Given the description of an element on the screen output the (x, y) to click on. 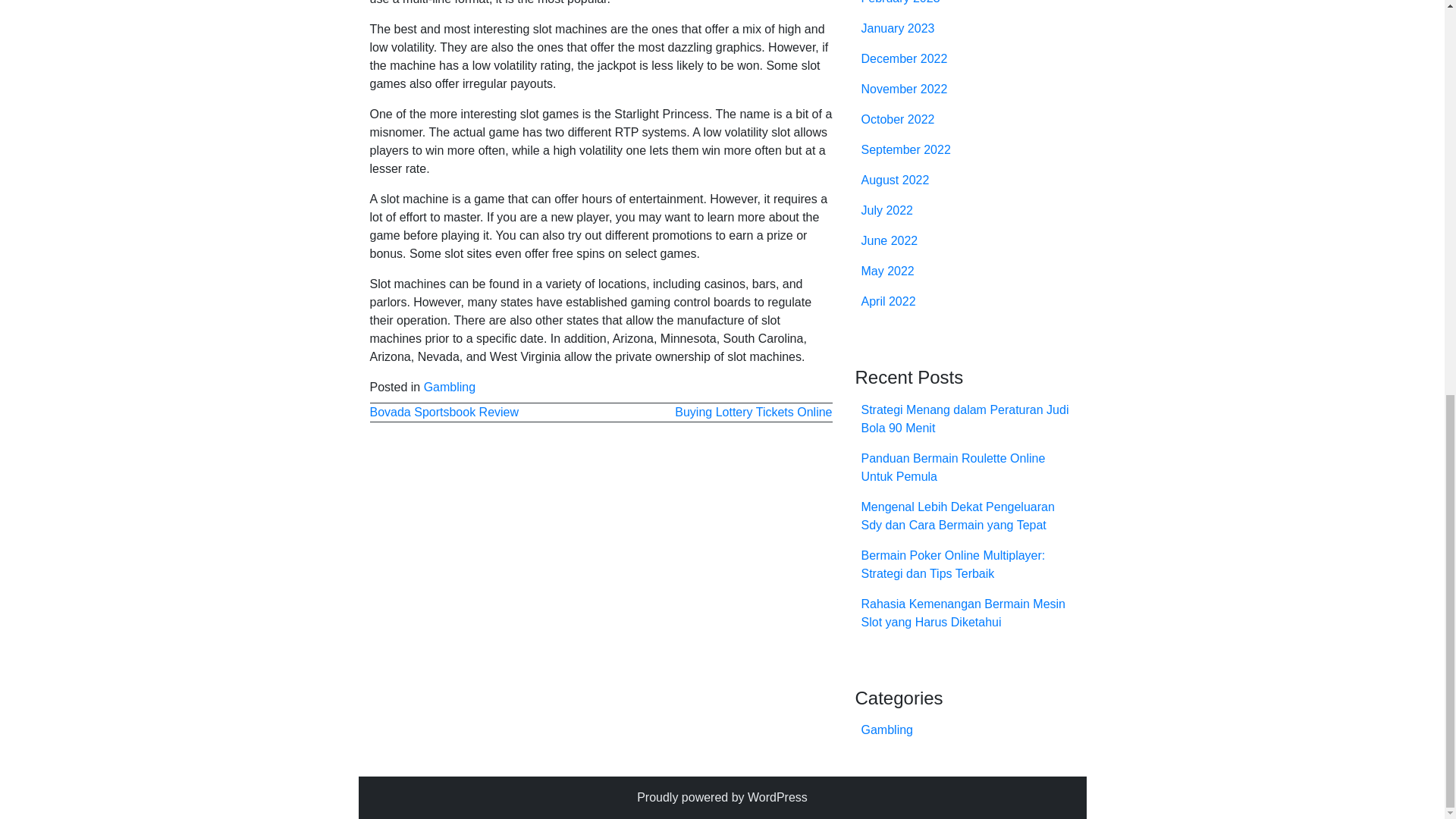
Strategi Menang dalam Peraturan Judi Bola 90 Menit (964, 418)
November 2022 (904, 88)
May 2022 (887, 270)
September 2022 (905, 149)
February 2023 (900, 2)
Bovada Sportsbook Review (444, 411)
Buying Lottery Tickets Online (753, 411)
Panduan Bermain Roulette Online Untuk Pemula (953, 467)
April 2022 (888, 300)
July 2022 (887, 210)
